Given the description of an element on the screen output the (x, y) to click on. 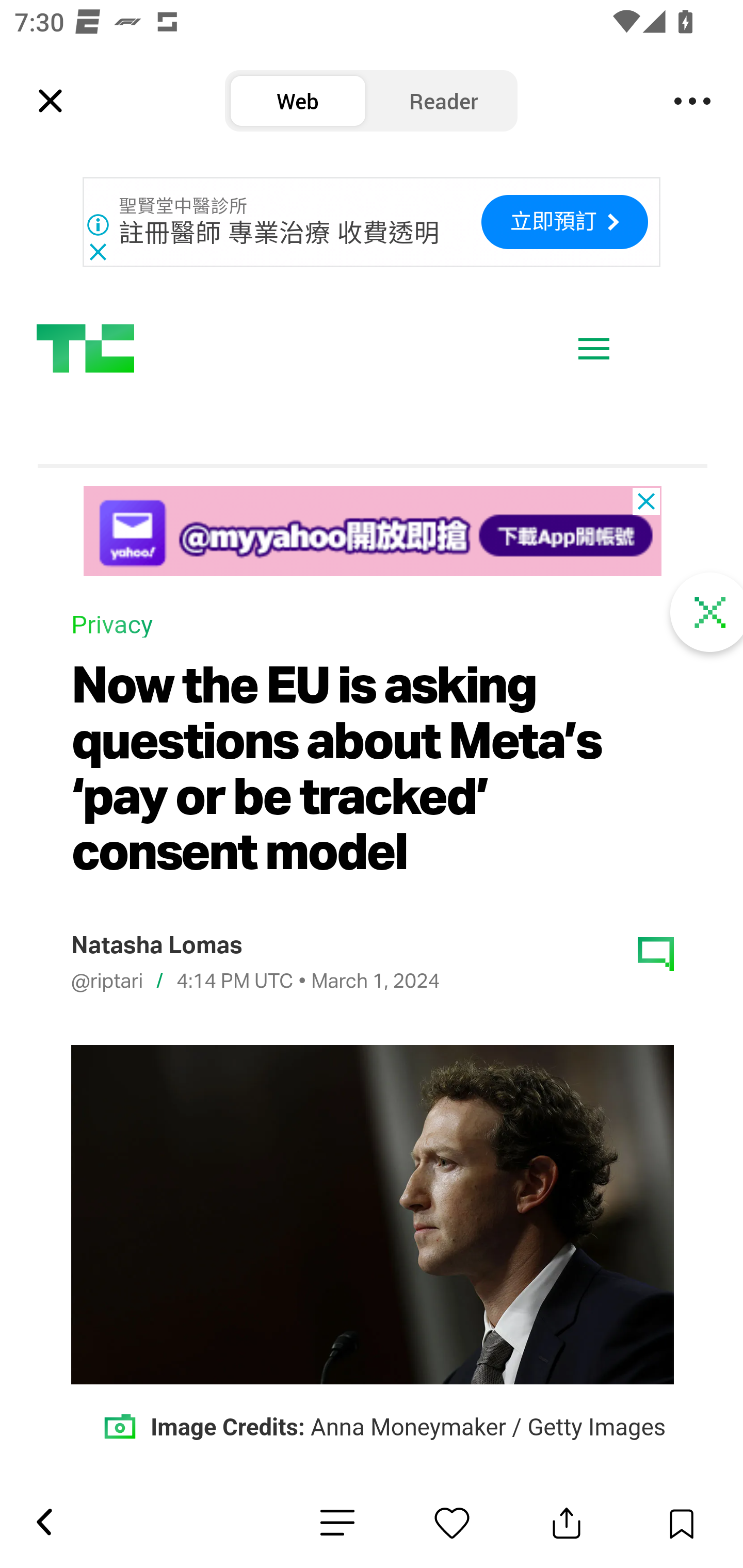
Leading Icon (50, 101)
Reader (443, 101)
Menu (692, 101)
聖賢堂中醫診所 (183, 205)
立即預訂 (564, 221)
註冊醫師 專業治療 收費透明 (279, 232)
TechCrunch (85, 348)
Open Navigation (594, 350)
myyahoo&nm=2&nx=159&ny=-10&mb=1&clkt=6 (371, 532)
Close Screen (707, 613)
Privacy (111, 627)
comment (656, 954)
Posts by Natasha Lomas Natasha Lomas (155, 946)
@riptari @ riptari  /  4:14 PM UTC•March 1, 2024 (255, 982)
@riptari @ riptari (106, 982)
Back Button (43, 1523)
News Detail Emotion (451, 1523)
Share Button (566, 1523)
Save Button (680, 1523)
News Detail Emotion (337, 1523)
